Given the description of an element on the screen output the (x, y) to click on. 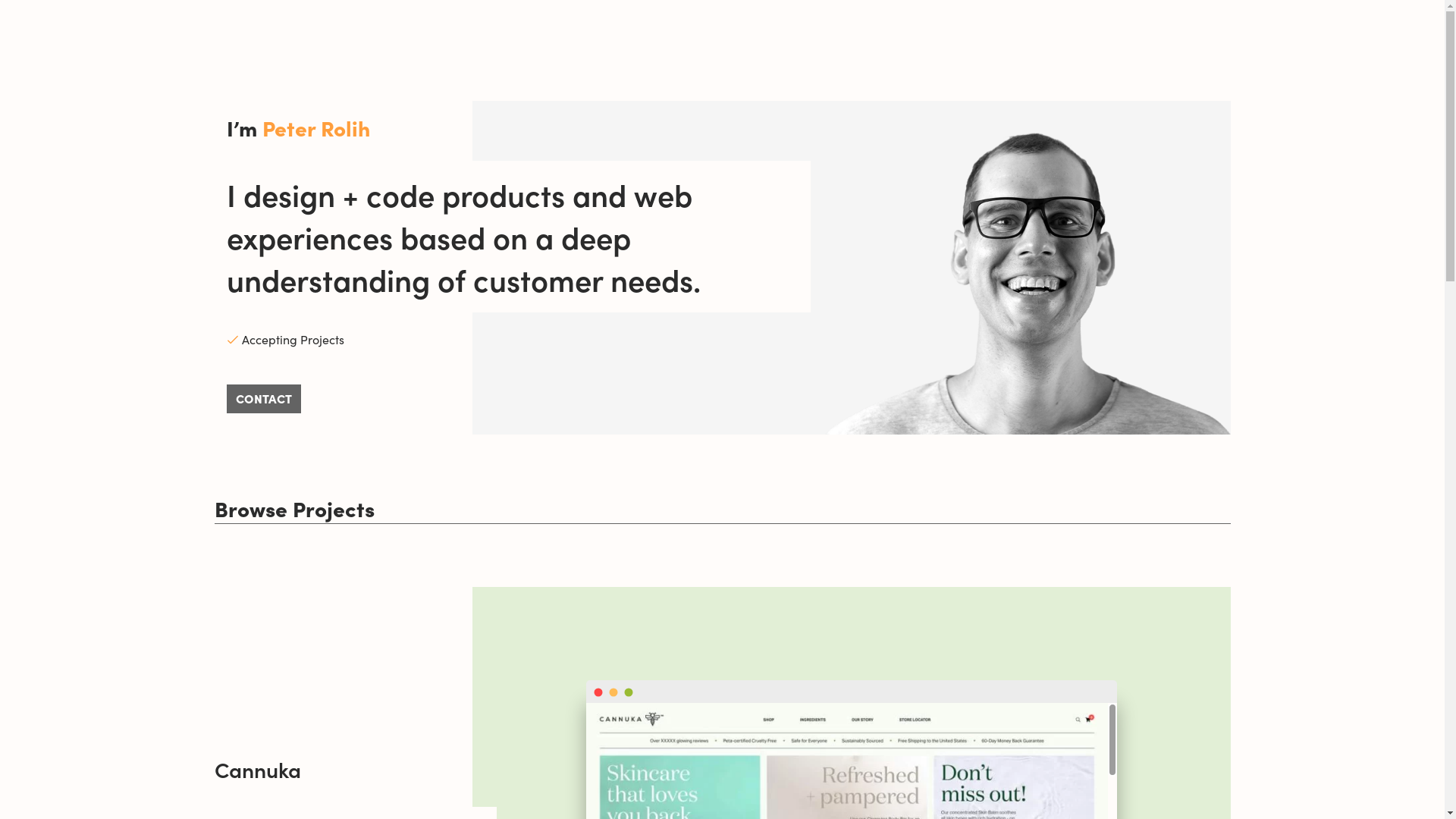
CONTACT Element type: text (262, 398)
